Given the description of an element on the screen output the (x, y) to click on. 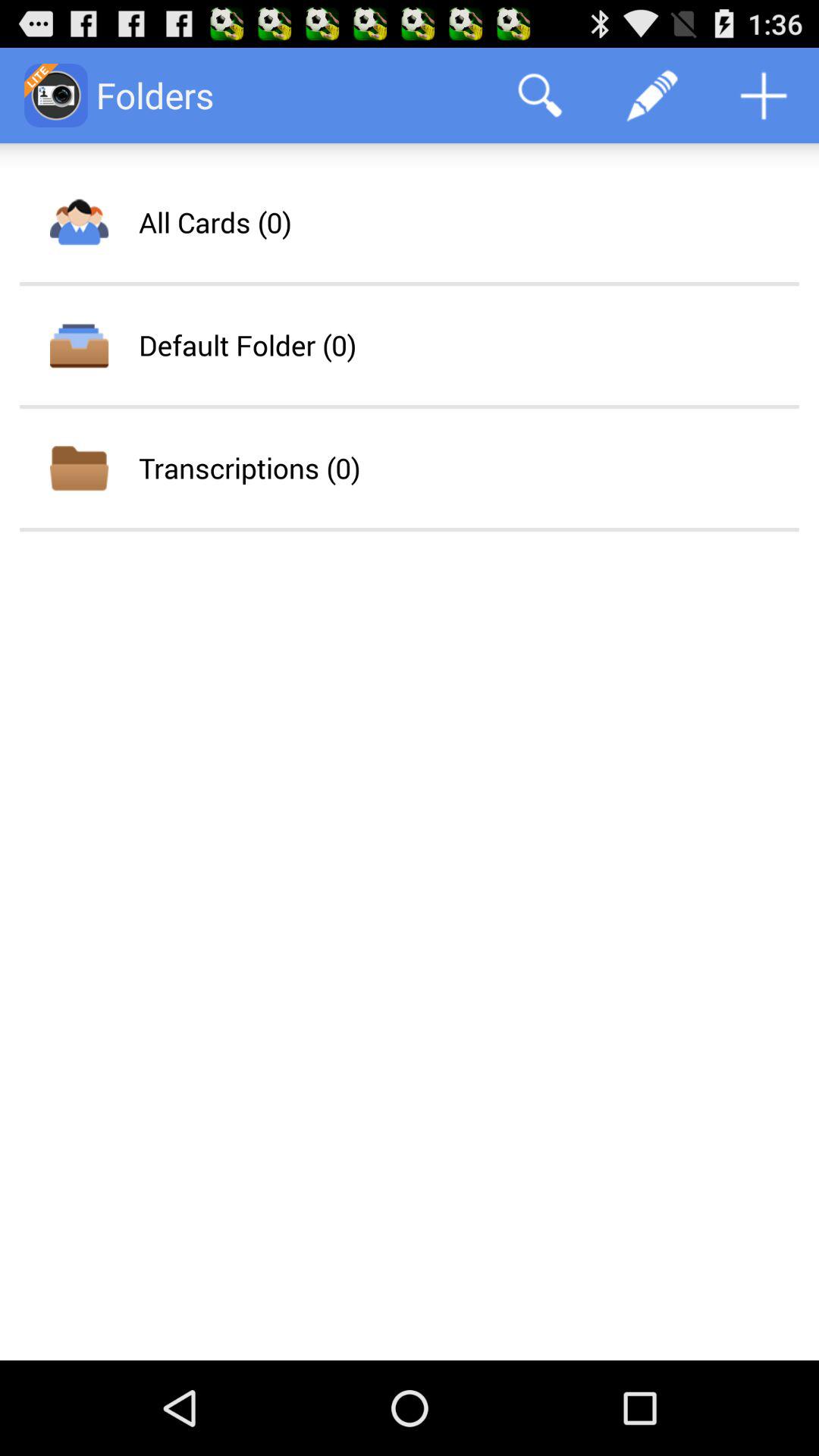
flip to transcriptions (0) item (249, 467)
